Given the description of an element on the screen output the (x, y) to click on. 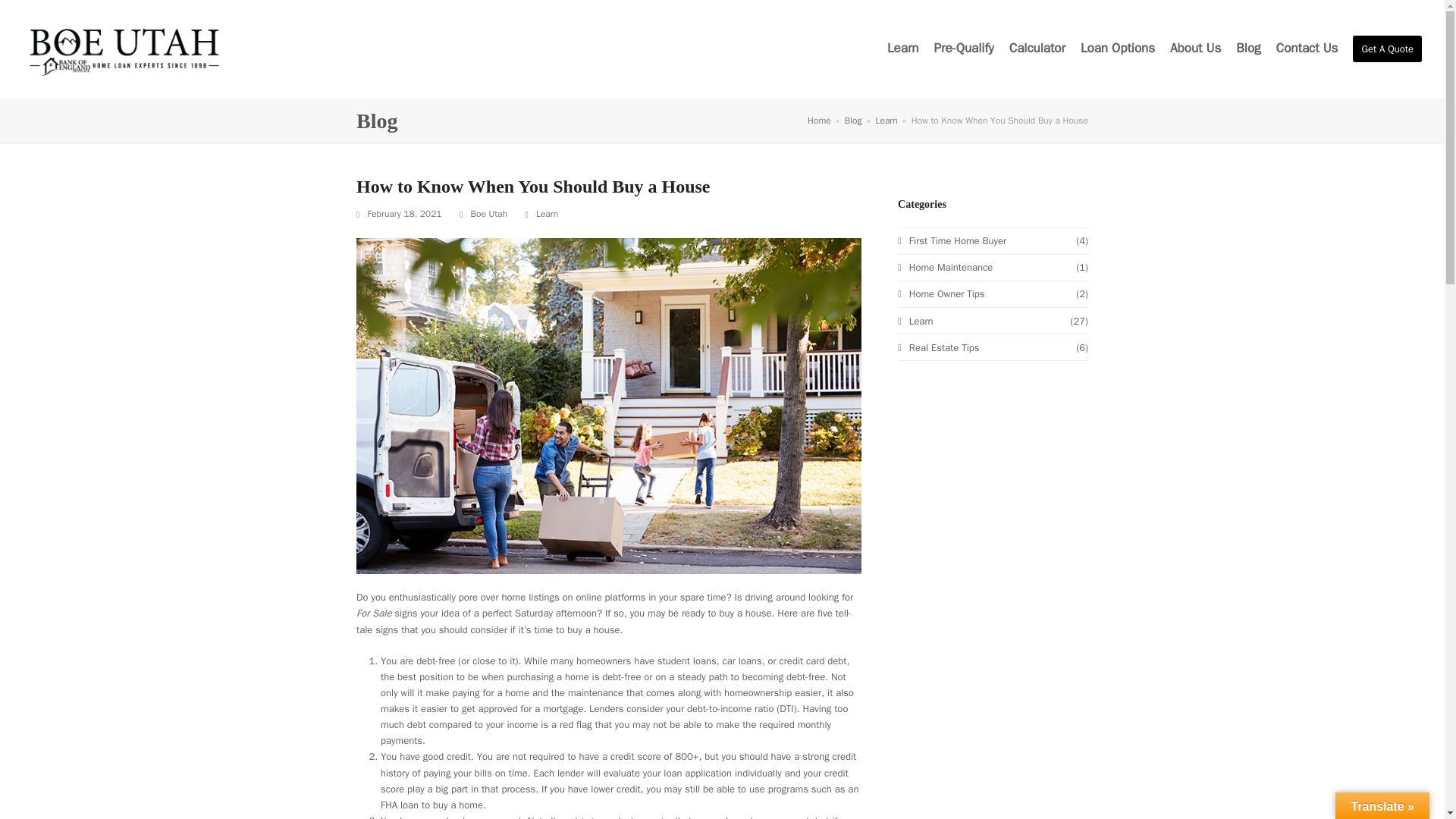
Loan Options (1117, 48)
Real Estate Tips (938, 347)
Calculator (1037, 48)
Boe Utah (488, 214)
Learn (915, 320)
First Time Home Buyer (952, 240)
Home Maintenance (945, 267)
Loan Options (1117, 48)
Learn (546, 214)
Pre-Qualify (964, 48)
